Given the description of an element on the screen output the (x, y) to click on. 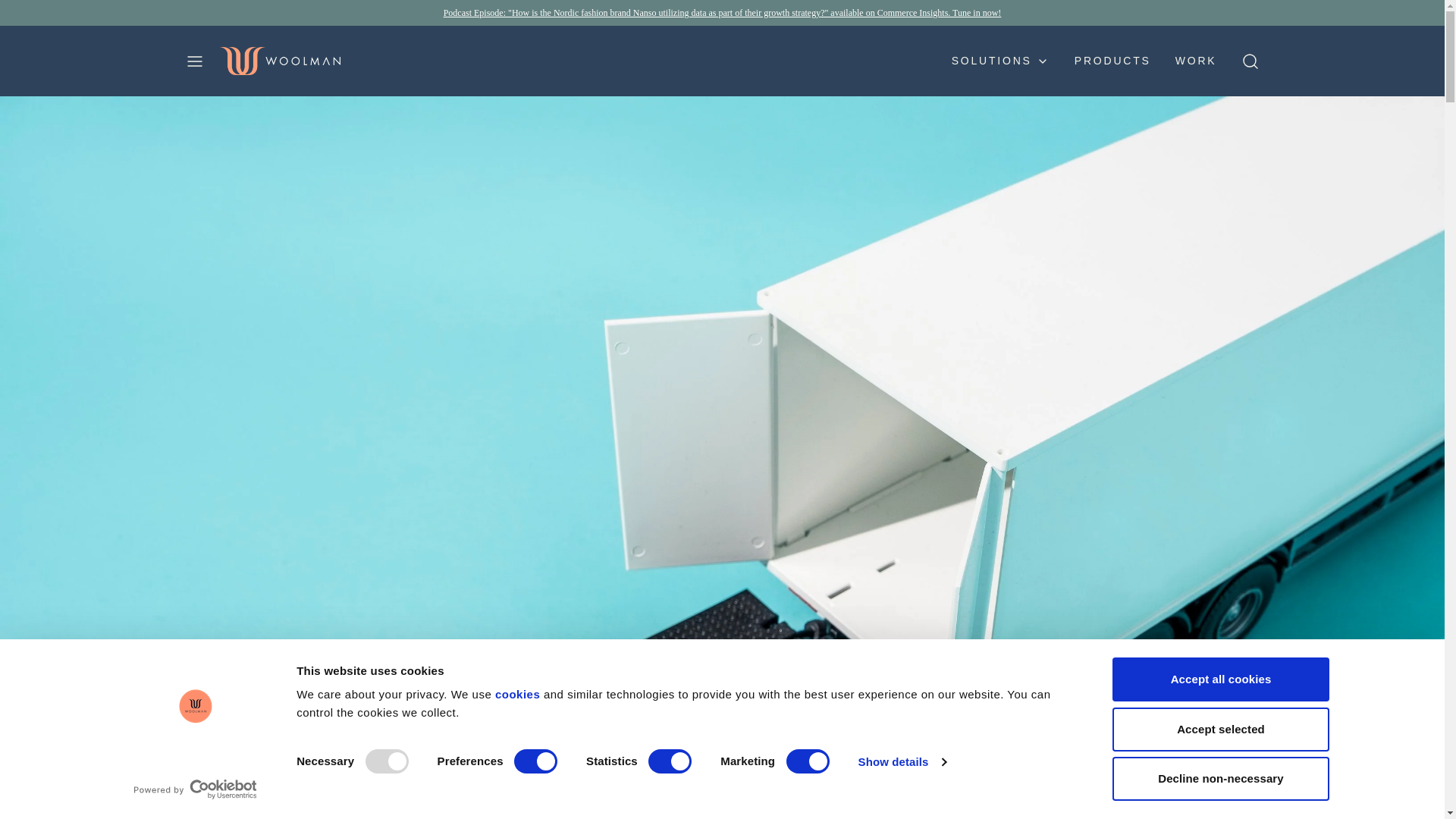
Show details (900, 762)
cookies (519, 694)
